Given the description of an element on the screen output the (x, y) to click on. 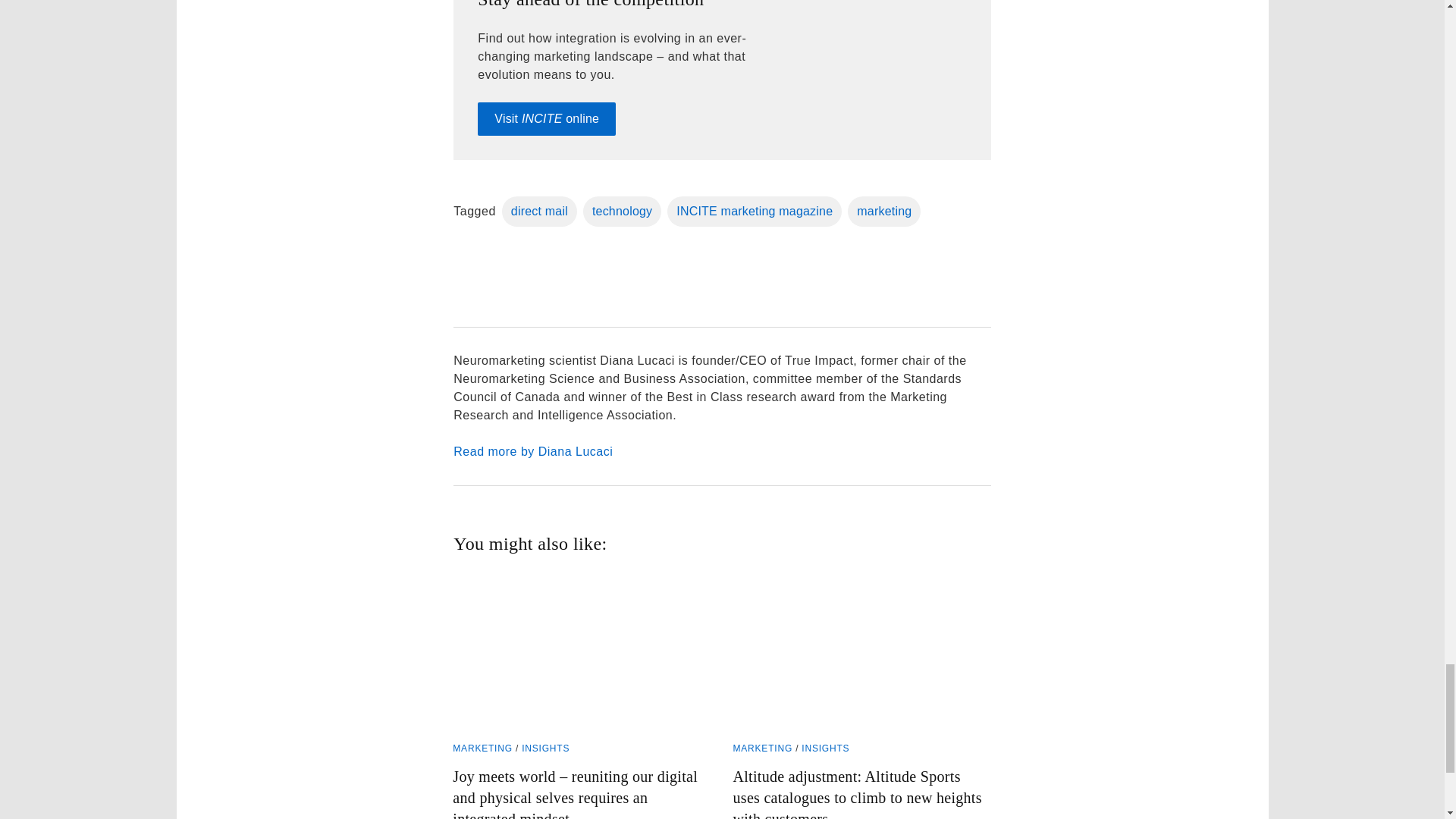
marketing (883, 211)
Read more by Diana Lucaci (721, 452)
direct mail (539, 211)
MARKETING (482, 747)
INSIGHTS (545, 747)
Visit INCITE online (546, 118)
technology (622, 211)
INCITE marketing magazine (753, 211)
